Given the description of an element on the screen output the (x, y) to click on. 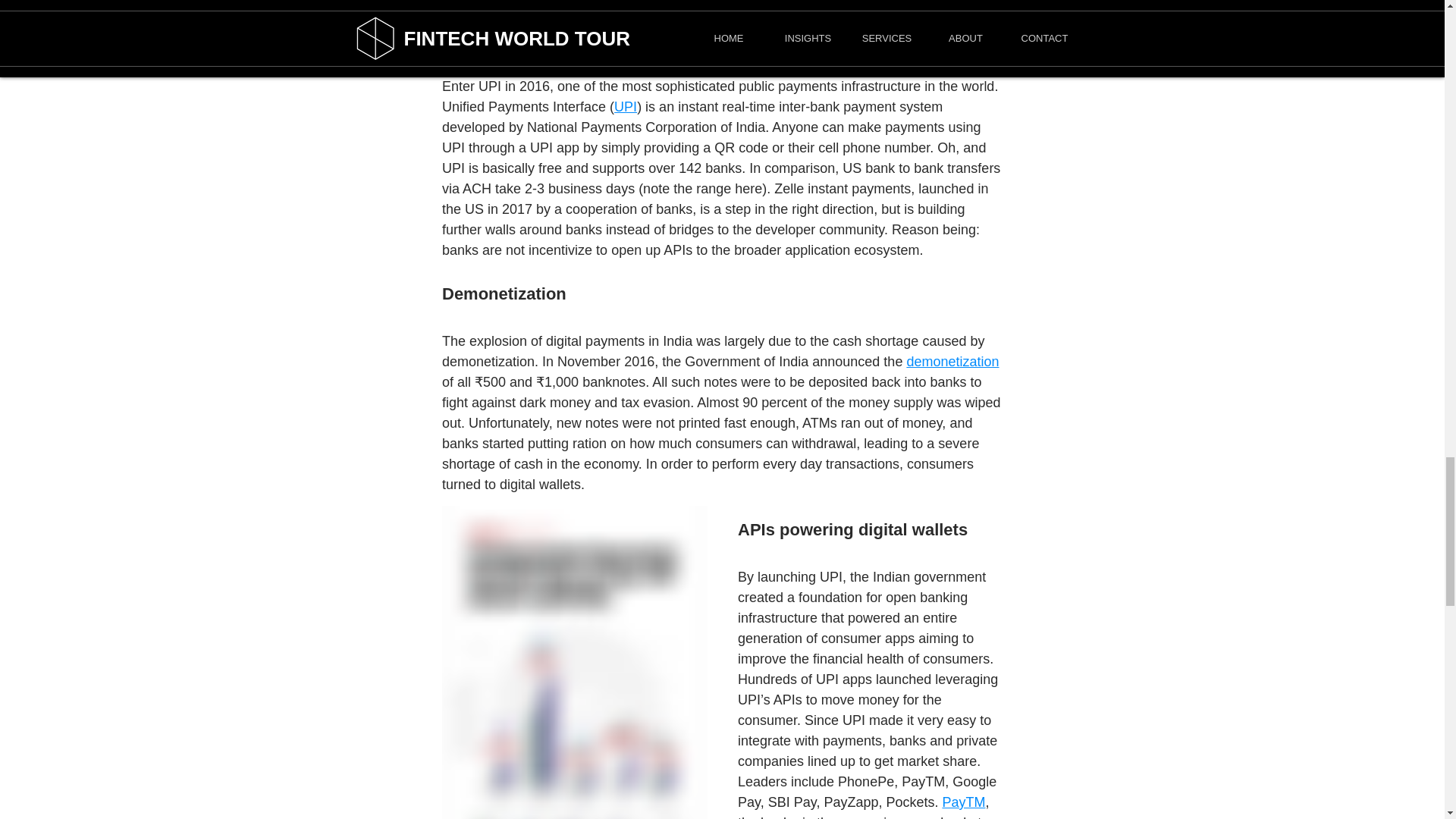
UPI (625, 106)
PayTM (963, 801)
UAE (454, 1)
demonetization (951, 361)
